Given the description of an element on the screen output the (x, y) to click on. 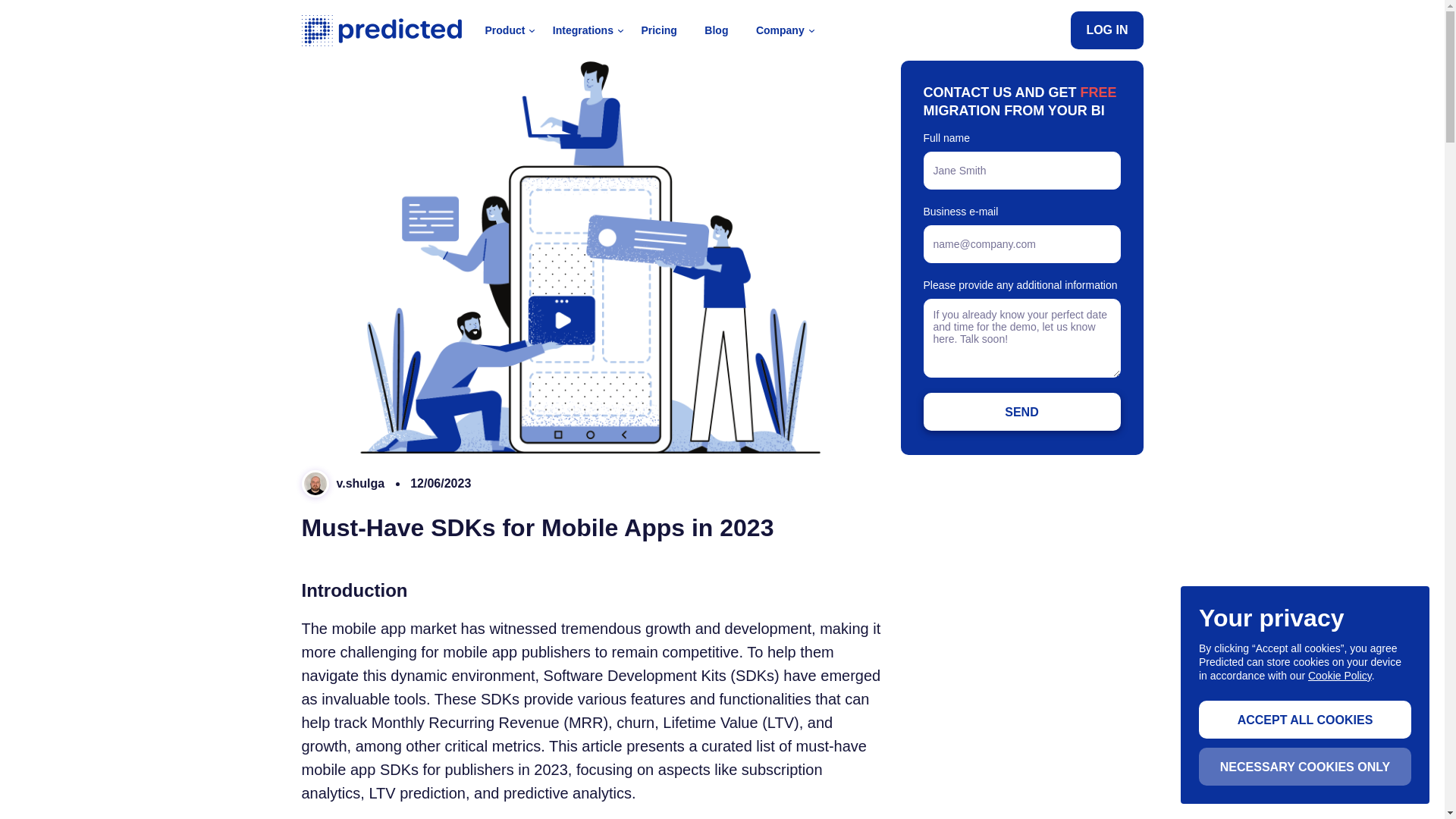
Blog (716, 30)
LOG IN (1106, 30)
Product (505, 30)
v.shulga (343, 483)
Company (780, 30)
Integrations (583, 30)
Pricing (658, 30)
